Given the description of an element on the screen output the (x, y) to click on. 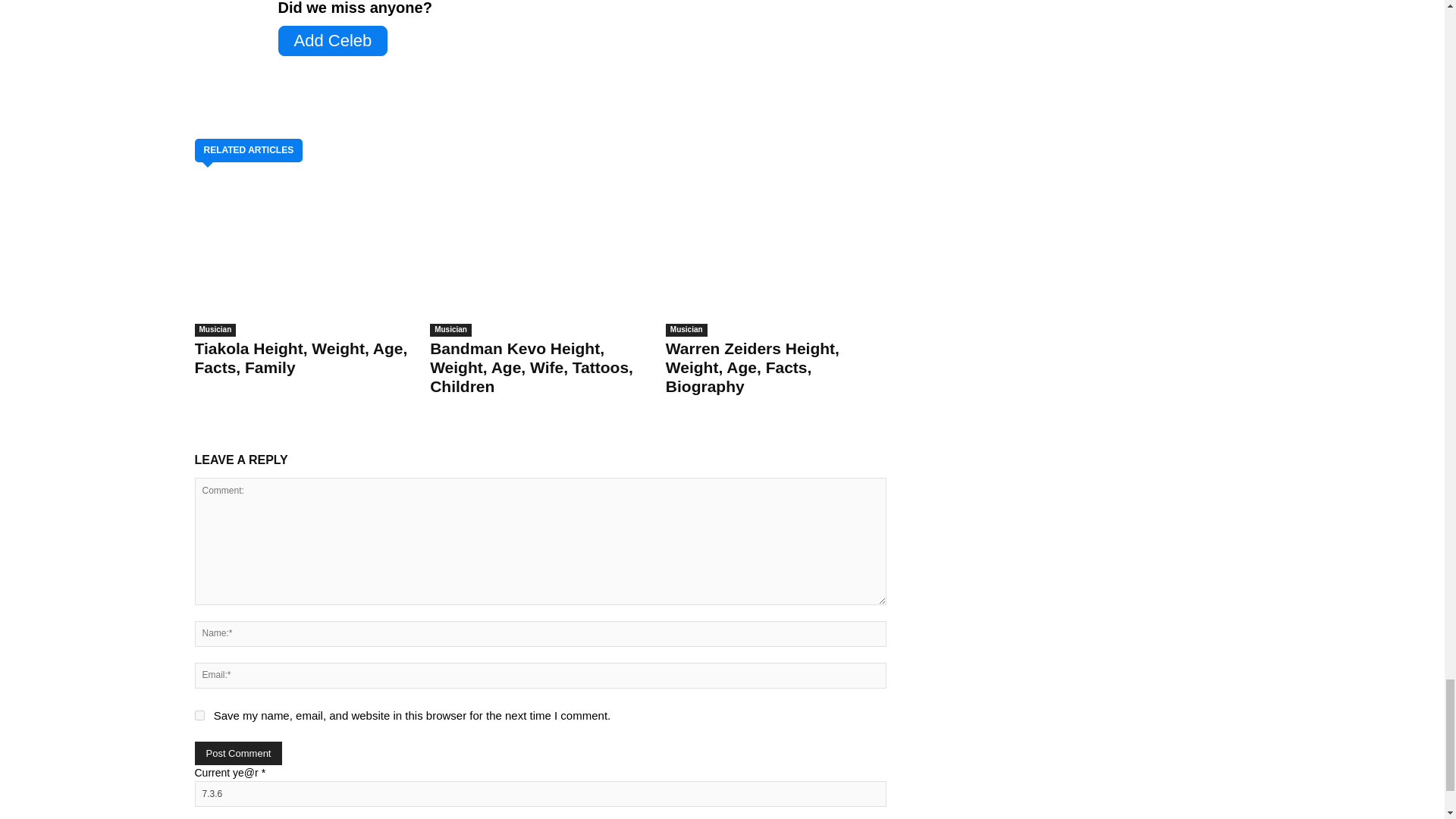
Add Celeb (332, 40)
yes (198, 715)
Post Comment (237, 753)
7.3.6 (539, 793)
